Given the description of an element on the screen output the (x, y) to click on. 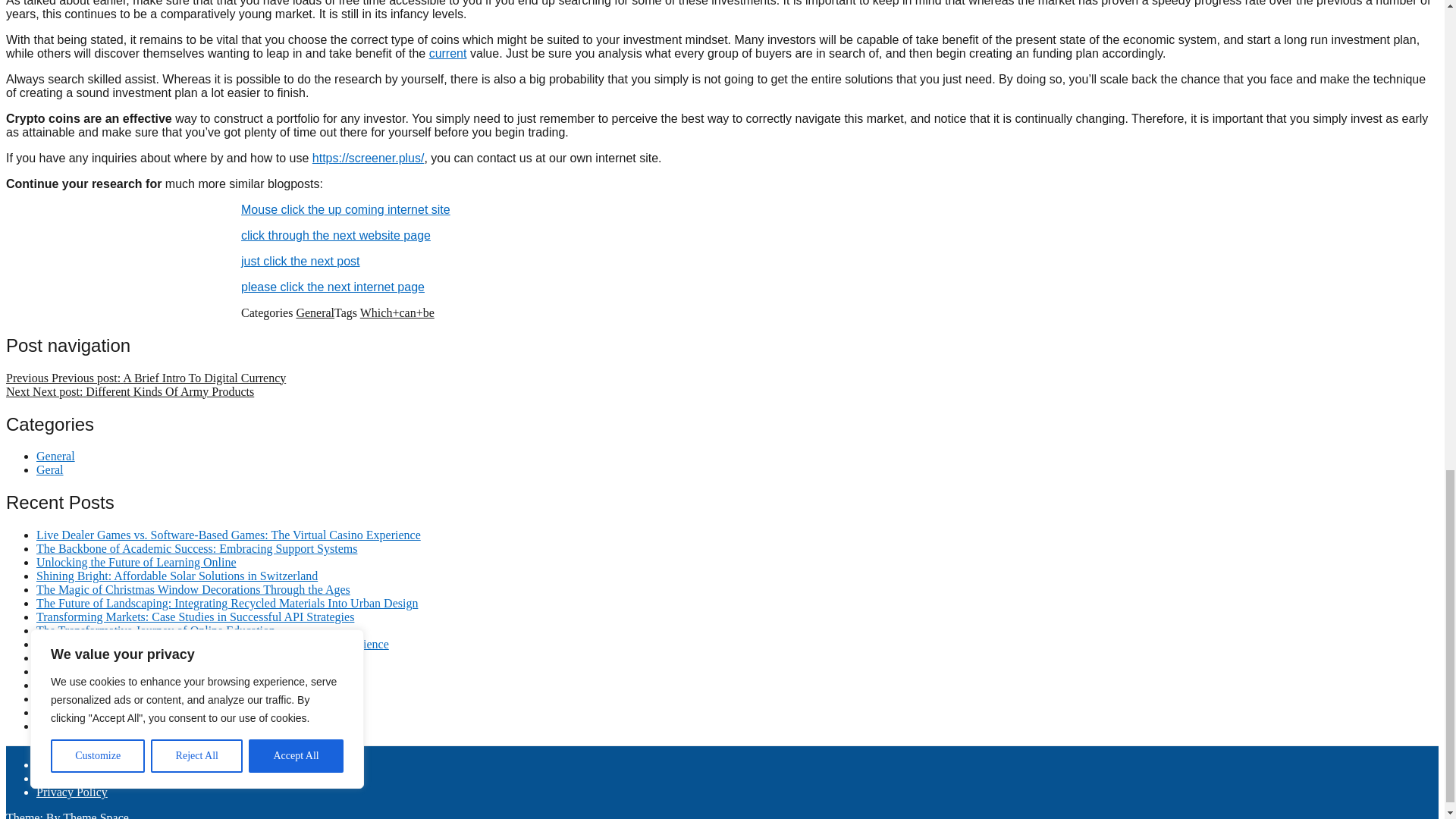
click through the next website page (335, 235)
Previous Previous post: A Brief Intro To Digital Currency (145, 377)
current (448, 52)
Mouse click the up coming internet site (345, 209)
General (314, 312)
General (55, 455)
Geral (50, 469)
The Backbone of Academic Success: Embracing Support Systems (196, 548)
just click the next post (300, 260)
